Given the description of an element on the screen output the (x, y) to click on. 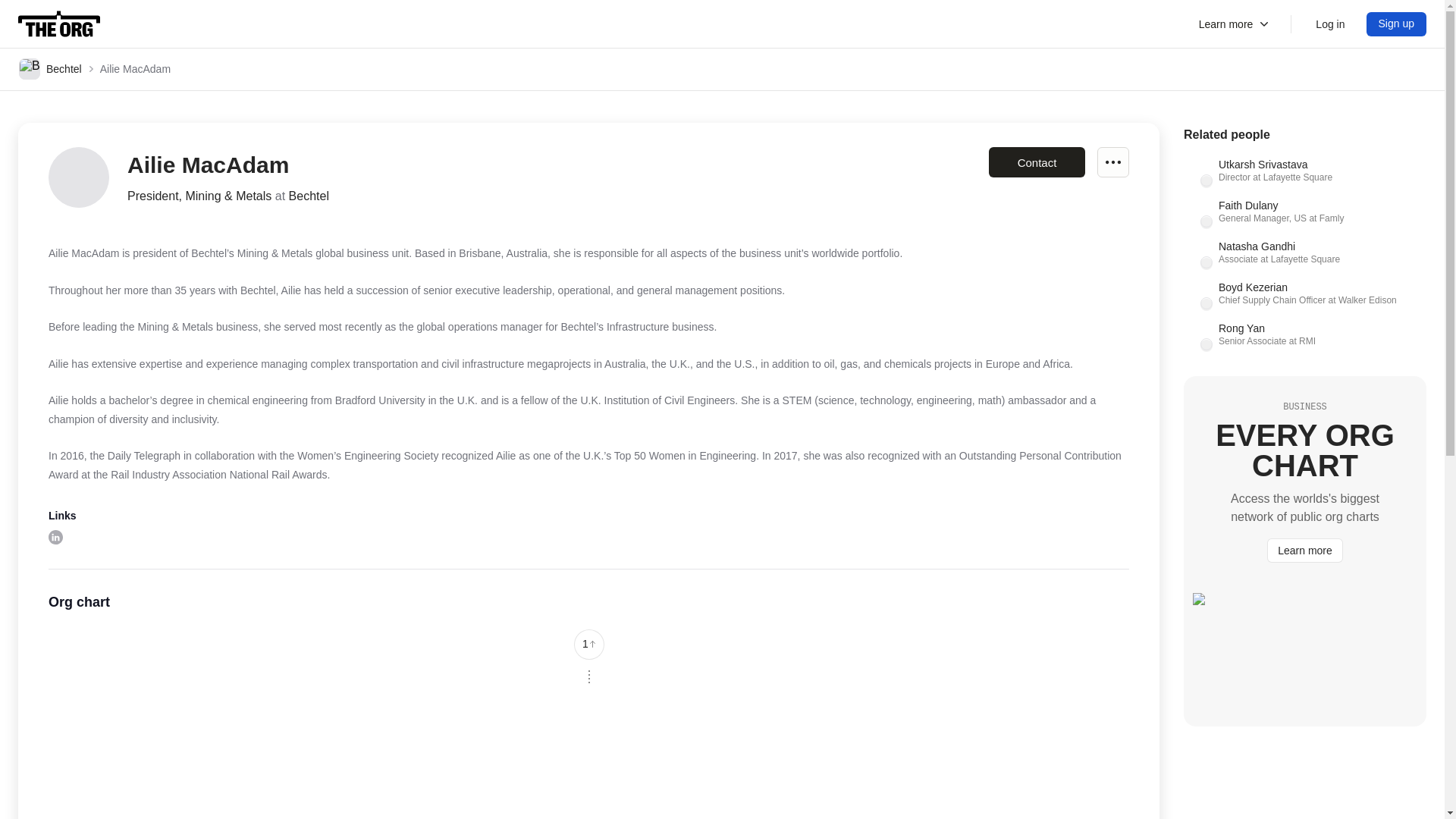
Sign up (1304, 337)
View on linkedIn (1396, 24)
The Org Home (55, 536)
1 (58, 23)
Sign up to The Org (588, 644)
Join, edit and report menu (1304, 255)
Bechtel (1304, 173)
